Given the description of an element on the screen output the (x, y) to click on. 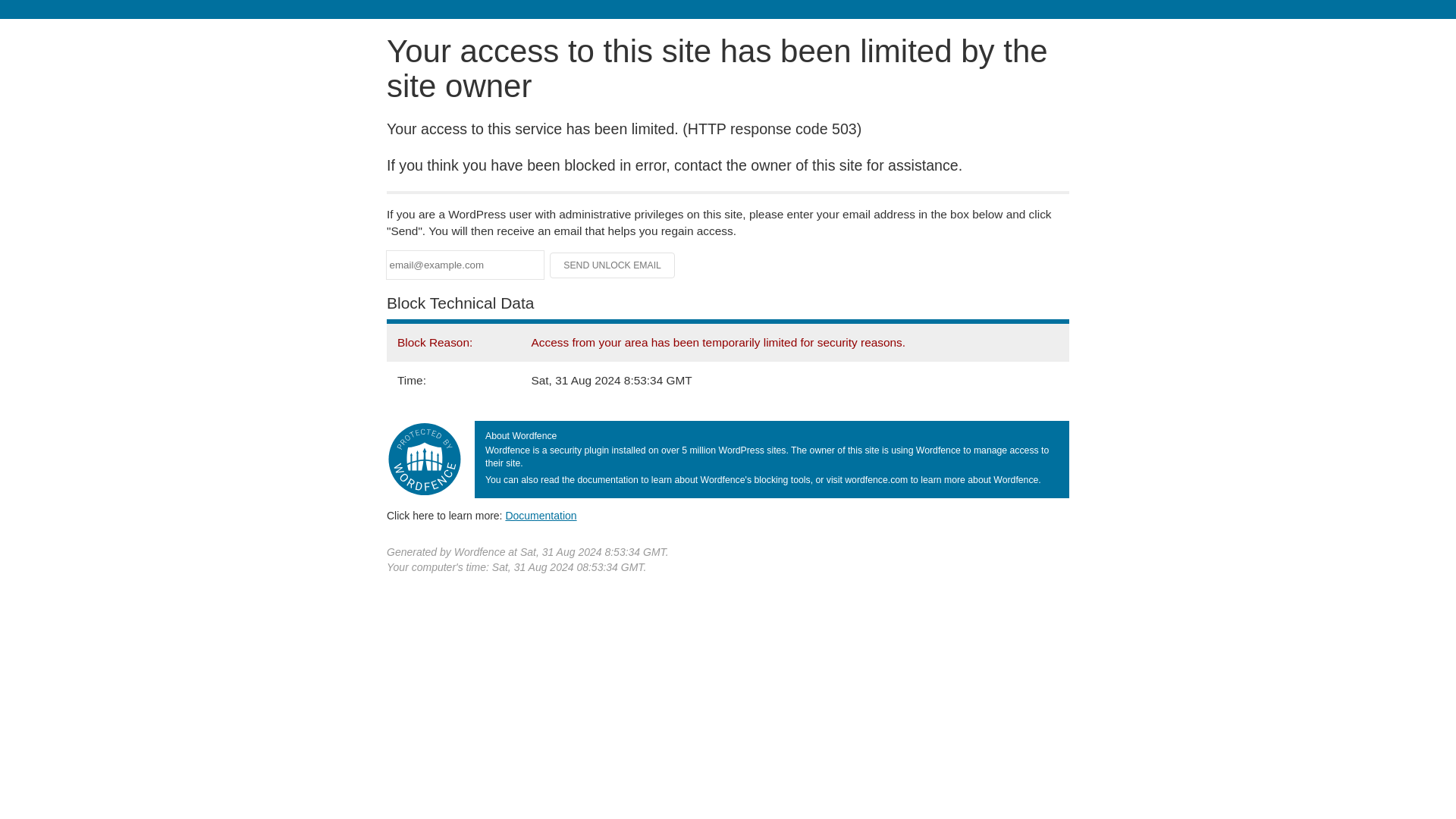
Send Unlock Email (612, 265)
Send Unlock Email (612, 265)
Documentation (540, 515)
